Given the description of an element on the screen output the (x, y) to click on. 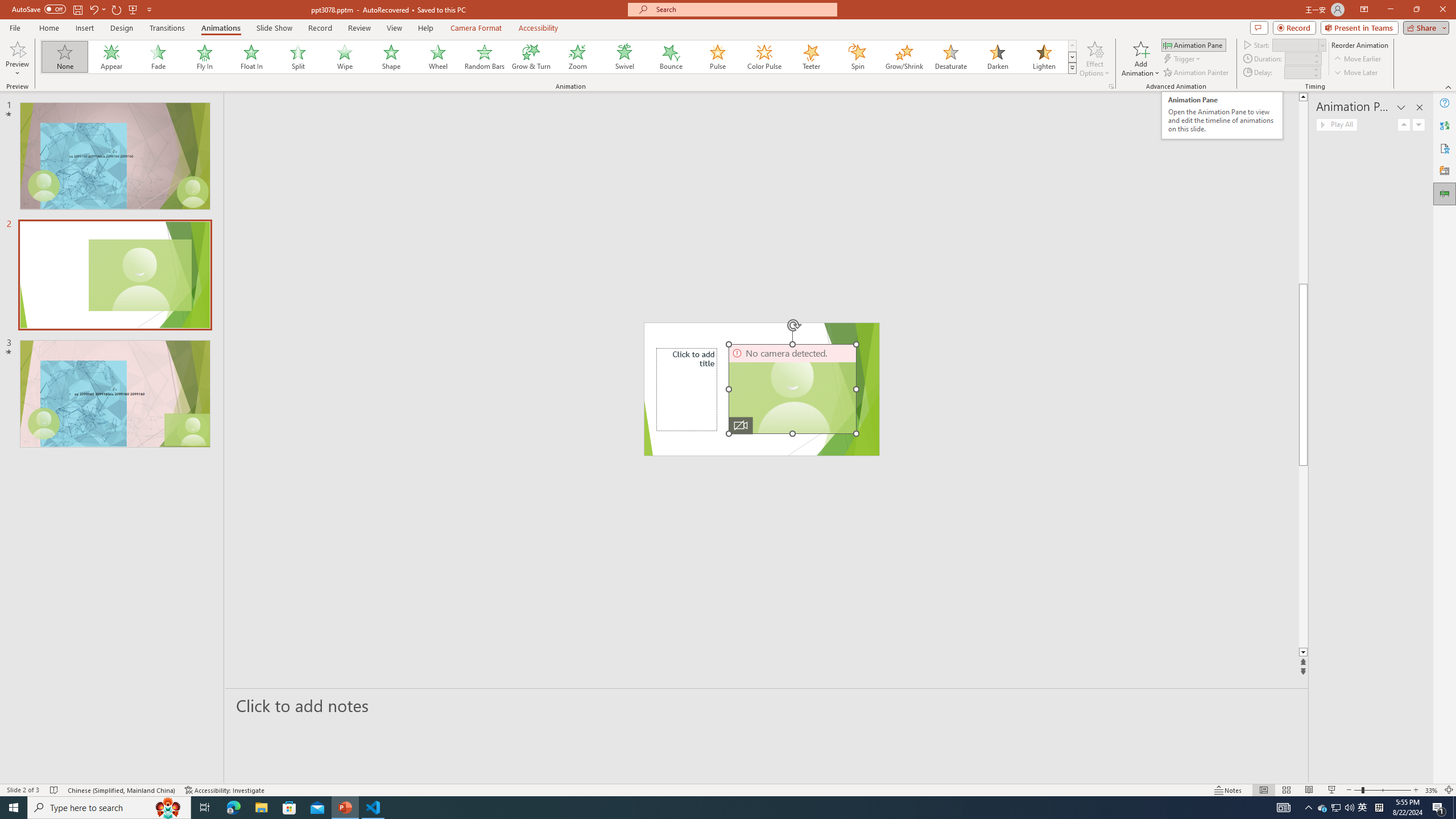
Animation Delay (1297, 72)
Add Animation (1141, 58)
Lighten (1043, 56)
Fly In (205, 56)
Spin (857, 56)
More Options... (1110, 85)
Animation Pane (1444, 193)
